Given the description of an element on the screen output the (x, y) to click on. 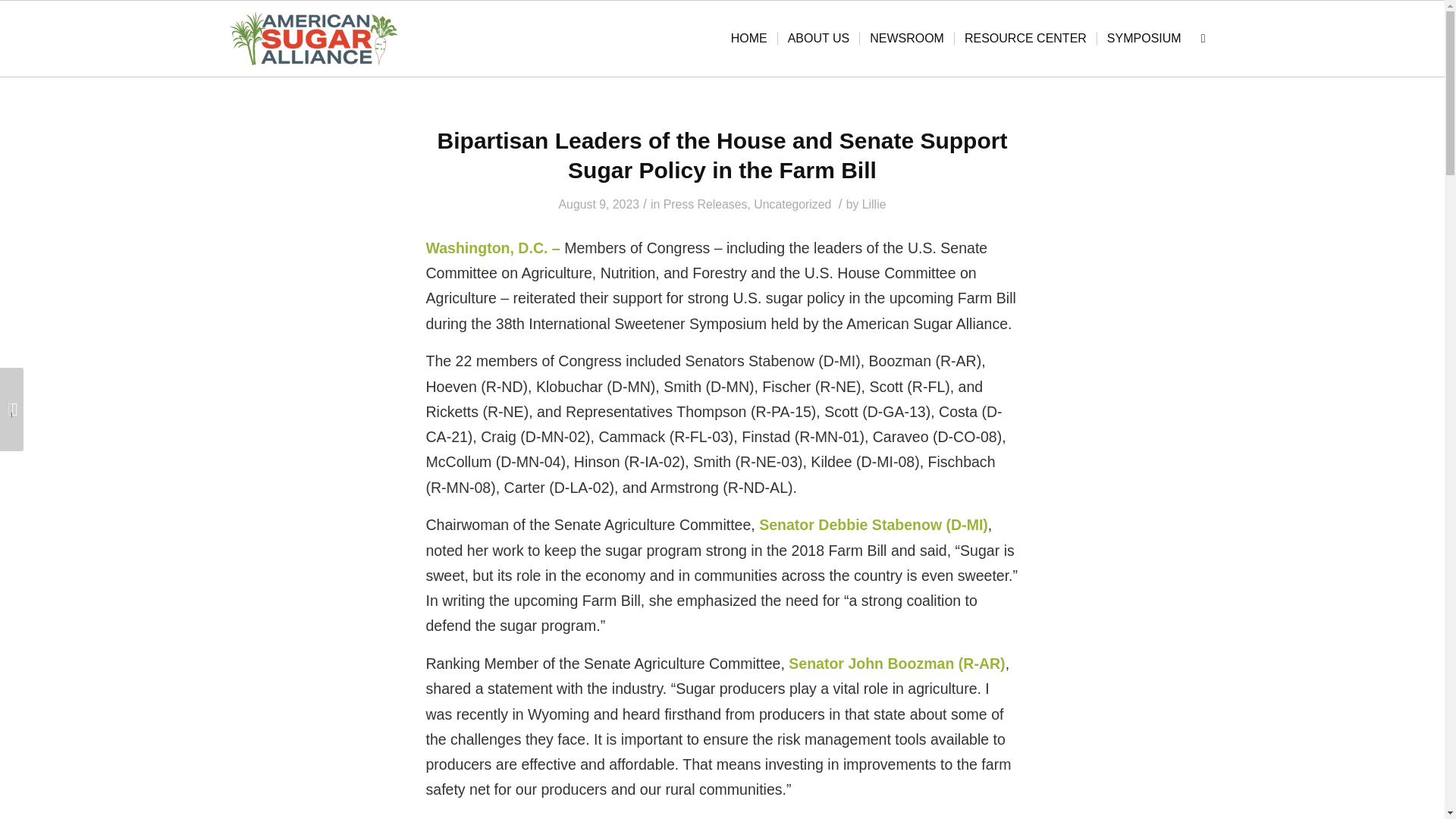
SYMPOSIUM (1143, 38)
RESOURCE CENTER (1024, 38)
ABOUT US (818, 38)
Lillie (873, 204)
Uncategorized (792, 204)
Press Releases (705, 204)
NEWSROOM (906, 38)
Posts by Lillie (873, 204)
